Given the description of an element on the screen output the (x, y) to click on. 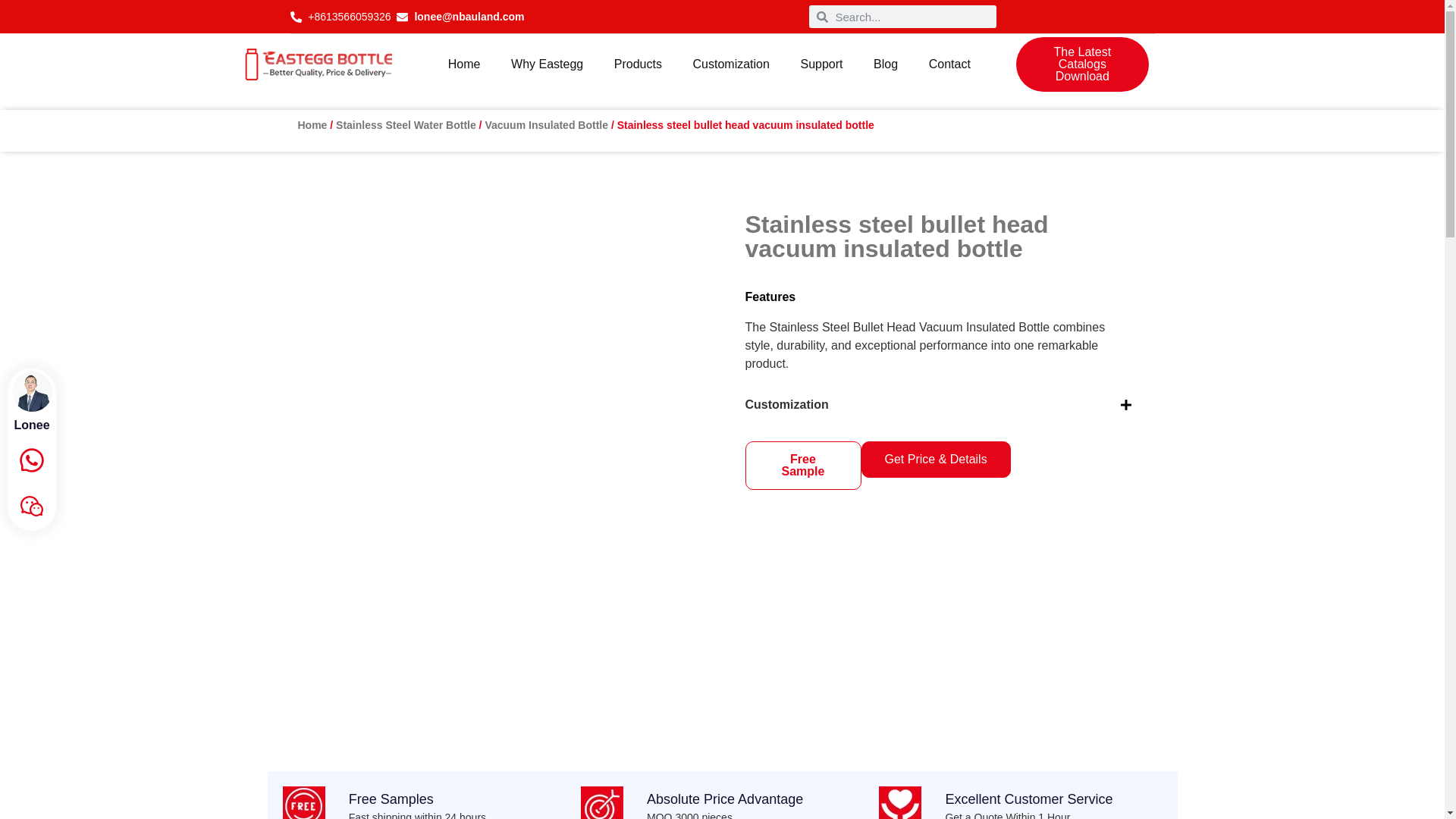
Blog (886, 64)
Contact (948, 64)
Home (463, 64)
Support (821, 64)
Customization (730, 64)
Products (638, 64)
Why Eastegg (547, 64)
